Given the description of an element on the screen output the (x, y) to click on. 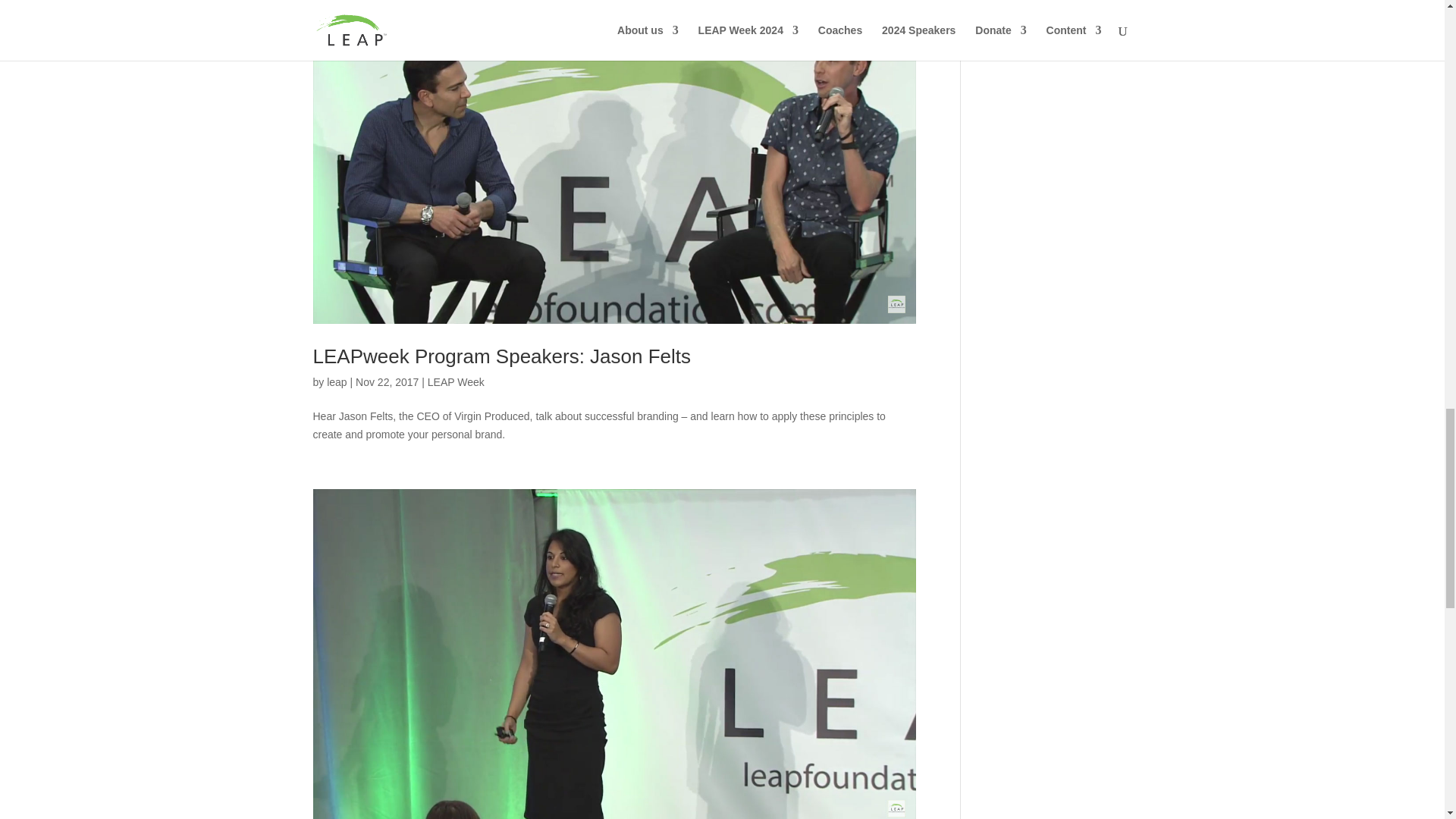
Posts by leap (336, 381)
